Given the description of an element on the screen output the (x, y) to click on. 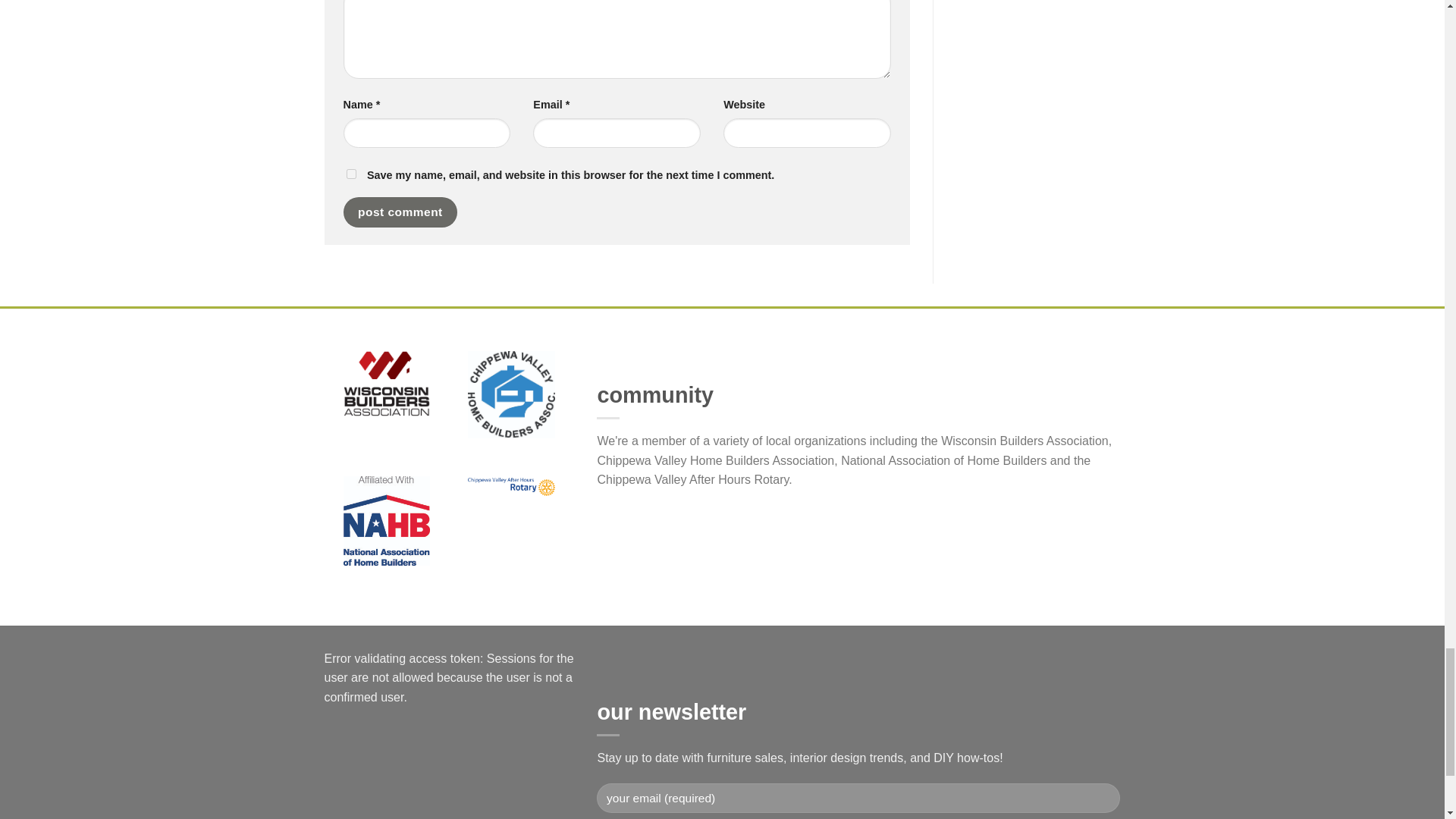
Post Comment (399, 211)
Post Comment (399, 211)
yes (350, 173)
